Given the description of an element on the screen output the (x, y) to click on. 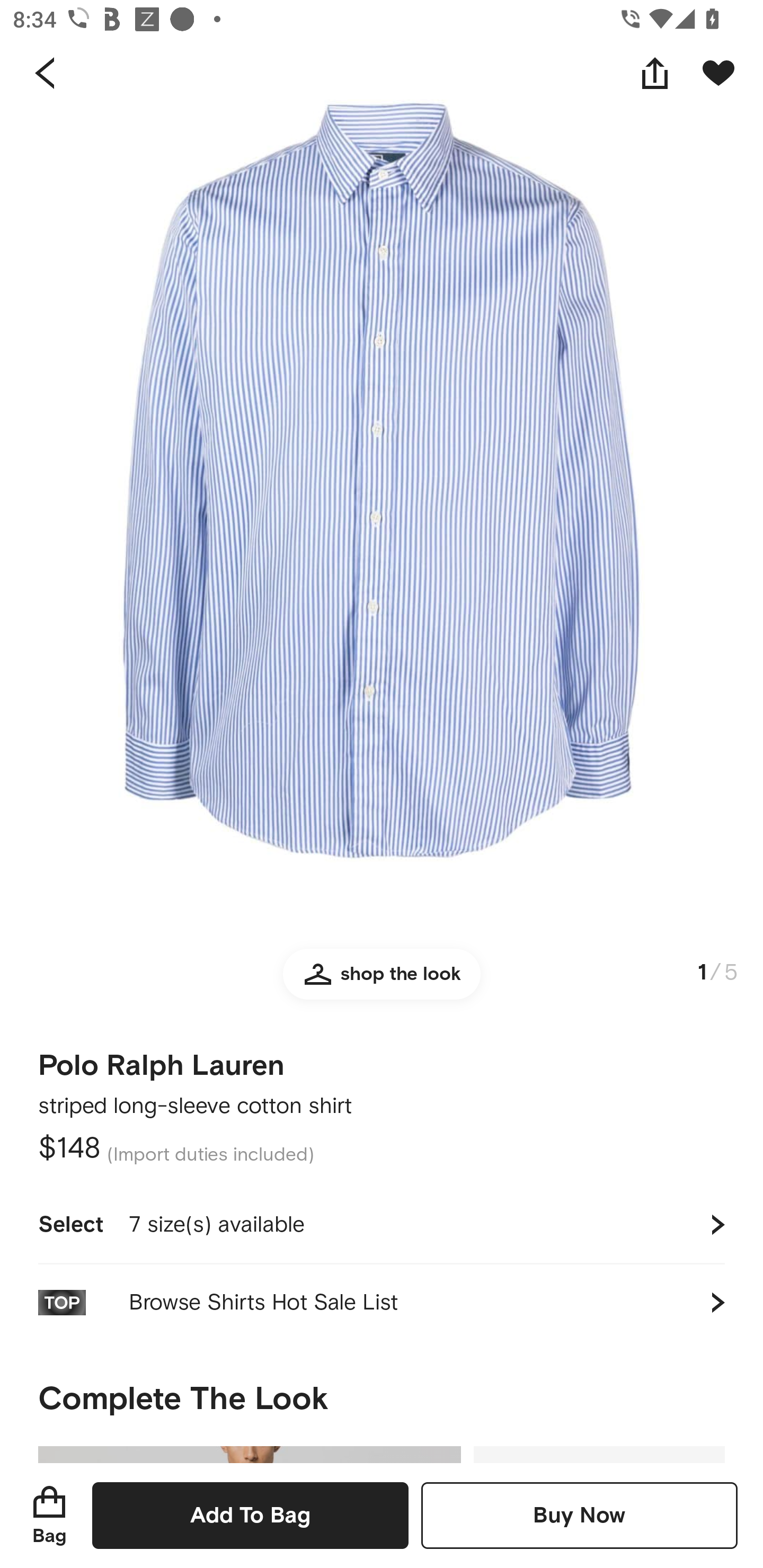
shop the look (381, 982)
Polo Ralph Lauren (161, 1059)
Select 7 size(s) available (381, 1224)
Browse Shirts Hot Sale List (381, 1301)
Bag (49, 1515)
Add To Bag (250, 1515)
Buy Now (579, 1515)
